Given the description of an element on the screen output the (x, y) to click on. 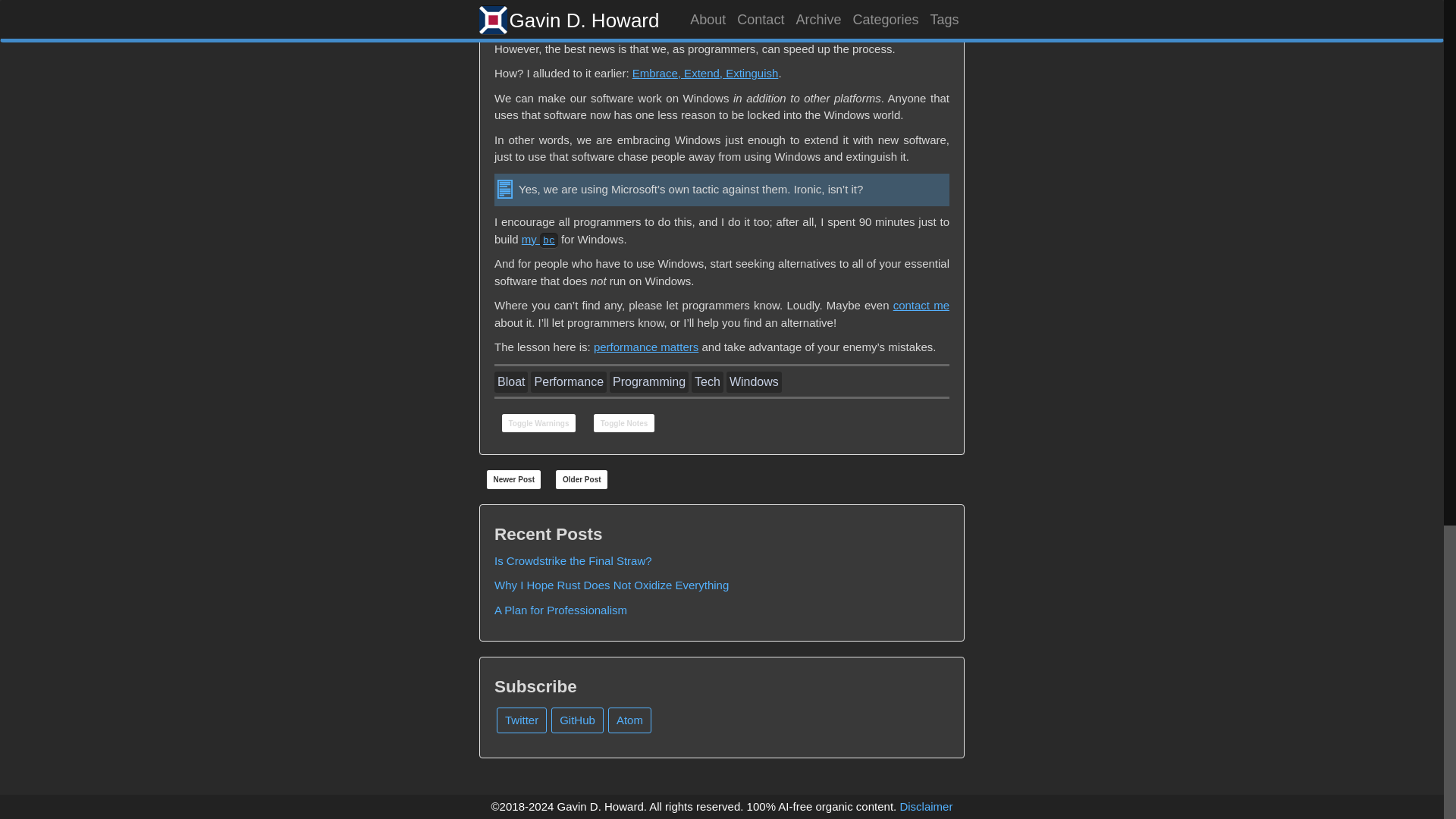
A Plan for Professionalism (561, 609)
Why I Hope Rust Does Not Oxidize Everything (612, 584)
Windows (753, 382)
Older Post (581, 479)
Toggle Warnings (538, 423)
Atom (629, 720)
Is Crowdstrike the Final Straw? (573, 560)
Programming (649, 382)
Twitter (521, 720)
contact me (921, 305)
Embrace, Extend, Extinguish (704, 72)
Bloat (511, 382)
GitHub (577, 720)
Performance (569, 382)
Tech (707, 382)
